Given the description of an element on the screen output the (x, y) to click on. 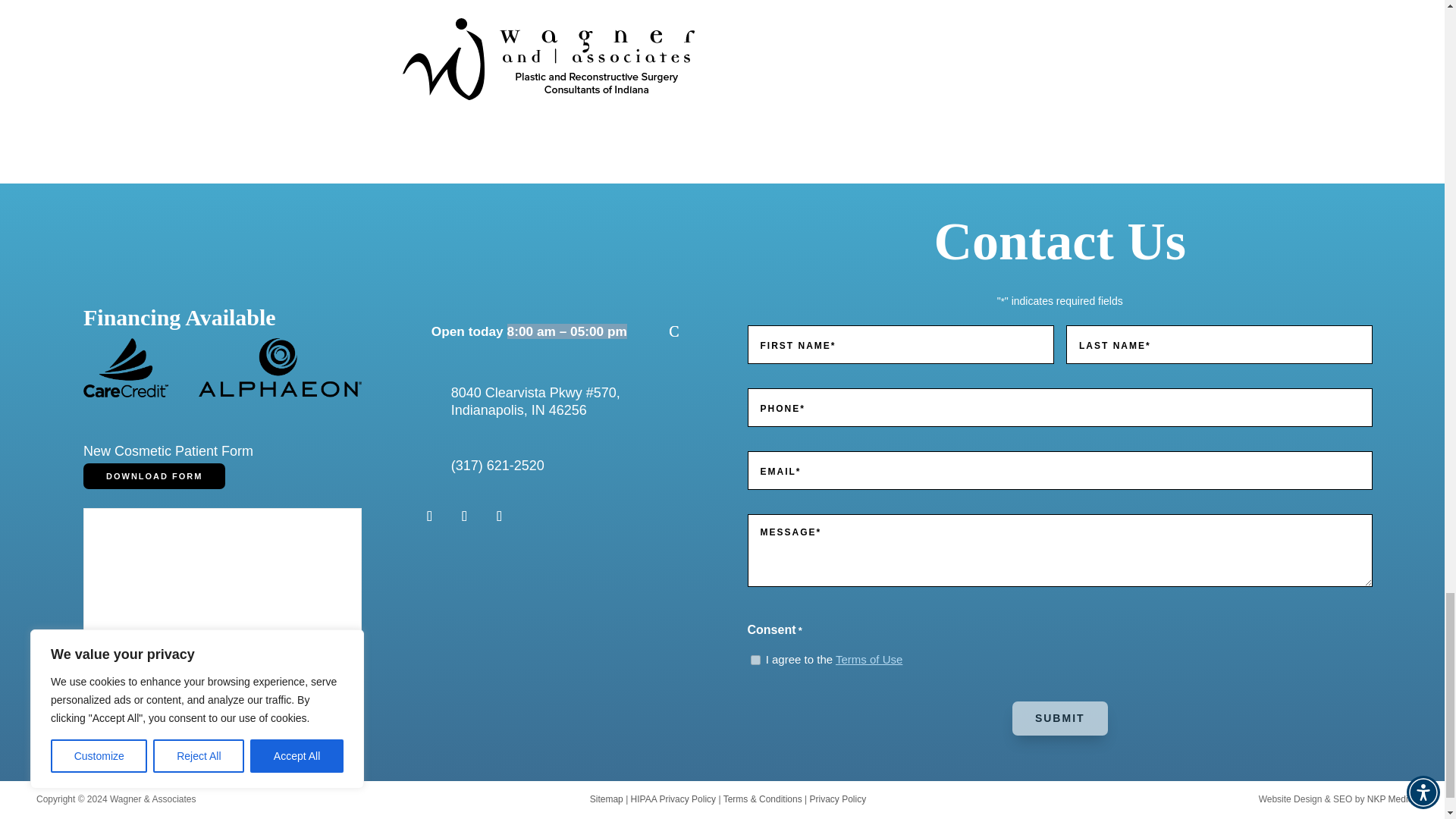
Follow on Youtube (498, 516)
1 (755, 660)
Follow on Instagram (464, 516)
Wagner and Associates Plastic and Reconstructive Surgery (548, 58)
carecredit and alphaeon logos (221, 367)
Submit (1059, 718)
Follow on Facebook (429, 516)
